Given the description of an element on the screen output the (x, y) to click on. 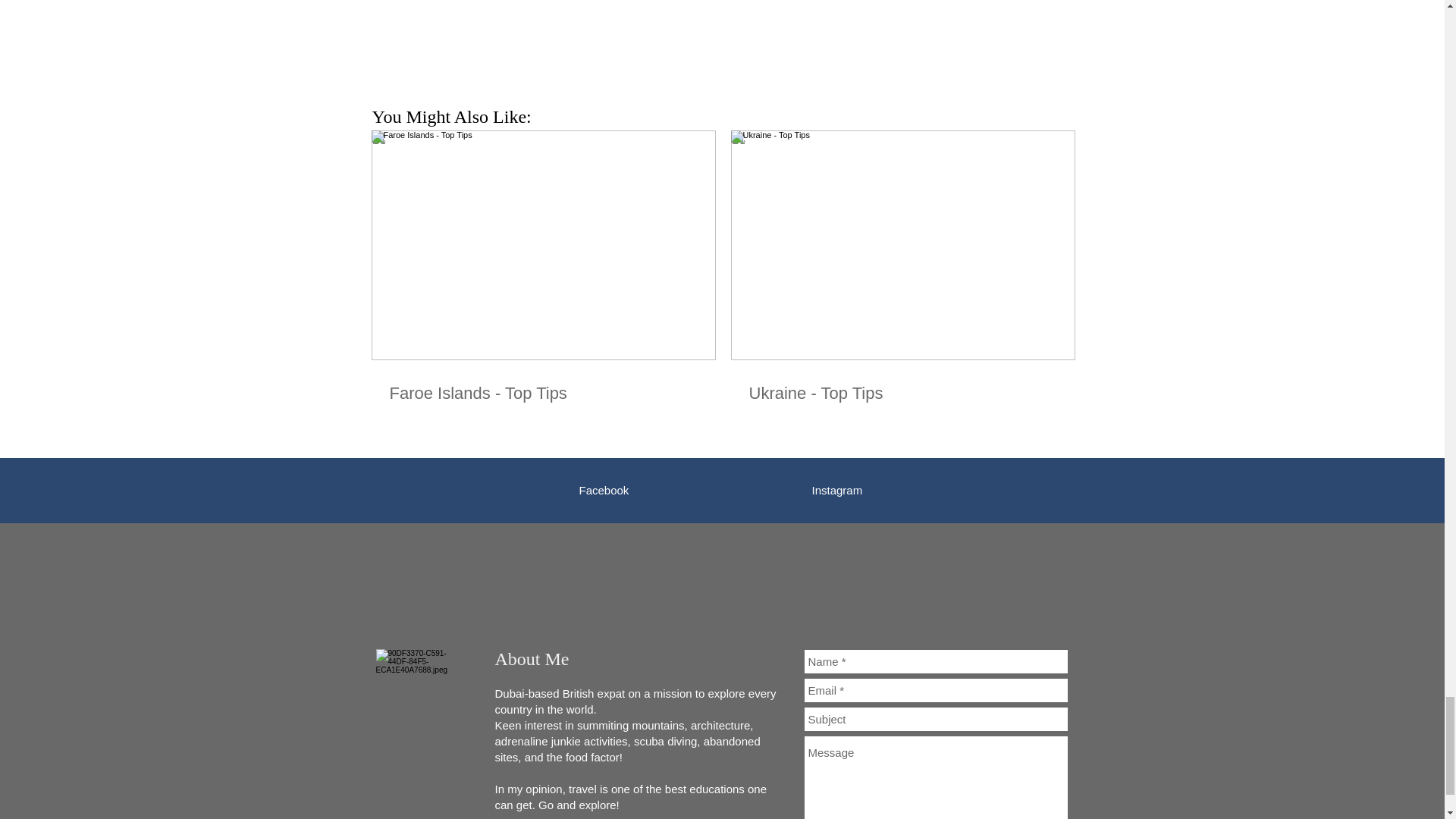
Ukraine - Top Tips (903, 393)
Faroe Islands - Top Tips (543, 393)
Facebook (603, 490)
Instagram (835, 490)
